Given the description of an element on the screen output the (x, y) to click on. 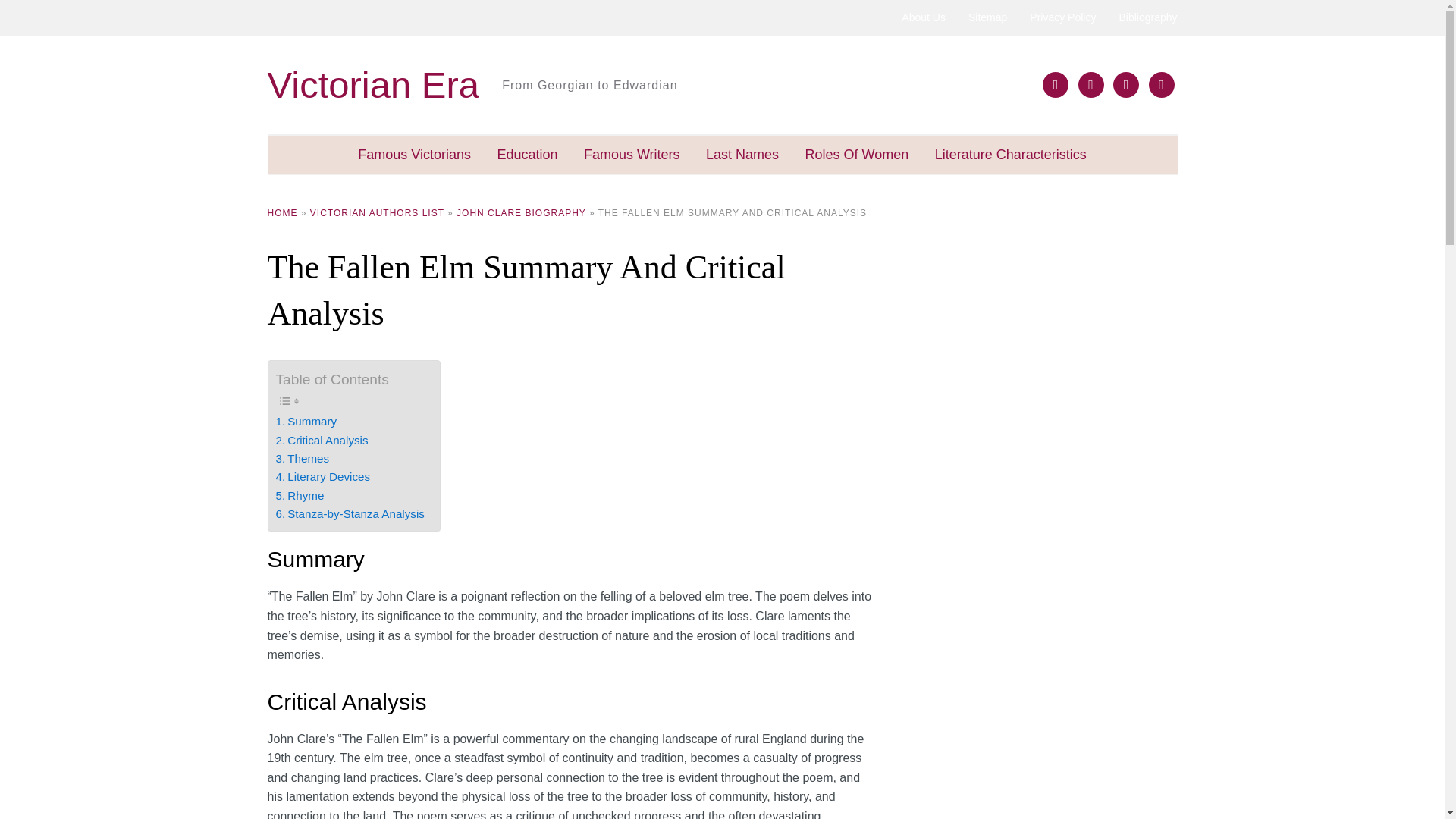
Default Label (1125, 83)
Facebook (1055, 83)
Literature Characteristics (1010, 154)
pinterest (1160, 83)
Themes (303, 458)
VICTORIAN AUTHORS LIST (377, 213)
Critical Analysis (322, 440)
Sitemap (986, 18)
Literary Devices (323, 476)
Victorian Era (372, 84)
